Given the description of an element on the screen output the (x, y) to click on. 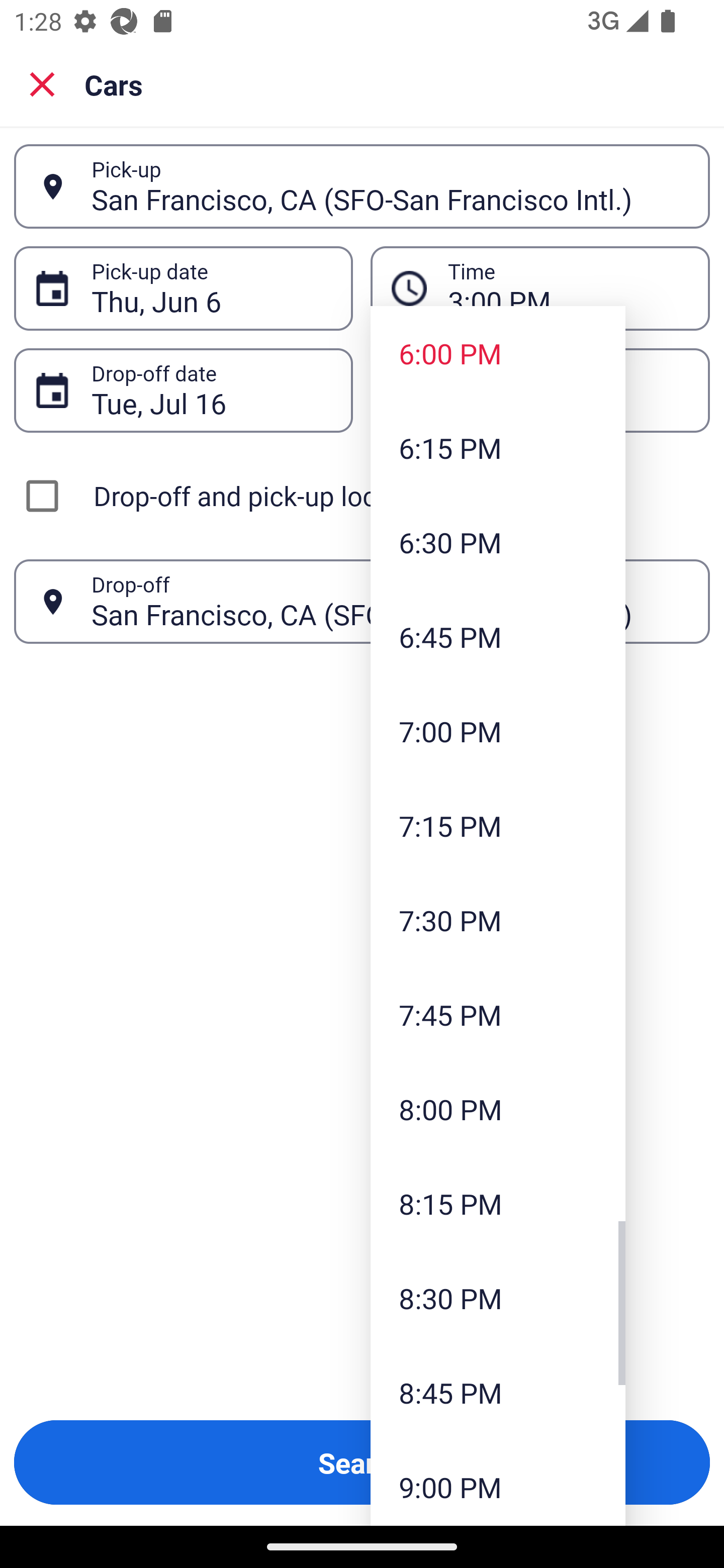
6:00 PM (497, 352)
6:15 PM (497, 447)
6:30 PM (497, 542)
6:45 PM (497, 636)
7:00 PM (497, 730)
7:15 PM (497, 825)
7:30 PM (497, 920)
7:45 PM (497, 1014)
8:00 PM (497, 1109)
8:15 PM (497, 1204)
8:30 PM (497, 1298)
8:45 PM (497, 1392)
9:00 PM (497, 1482)
